Given the description of an element on the screen output the (x, y) to click on. 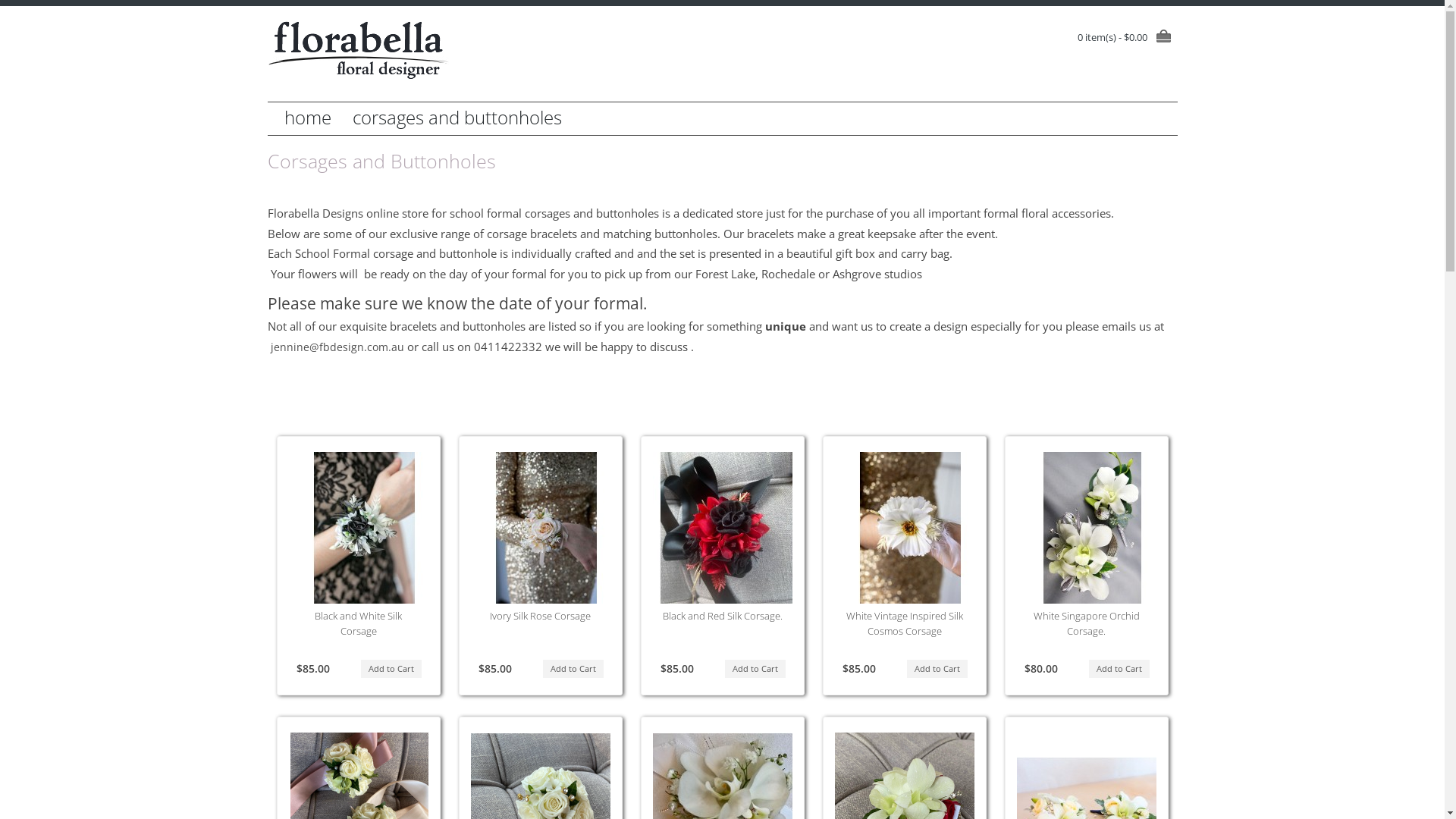
White Singapore Orchid Corsage. Element type: text (1085, 622)
White Vintage Inspired Silk Cosmos Corsage Element type: text (904, 622)
0 item(s) - $0.00 Element type: text (1126, 37)
 Ivory Silk Rose Corsage   Element type: hover (545, 527)
Add to Cart Element type: text (936, 668)
Black and White Silk Corsage Element type: text (357, 622)
Add to Cart Element type: text (390, 668)
Black and Red Silk Corsage. Element type: text (722, 615)
Add to Cart Element type: text (754, 668)
Add to Cart Element type: text (1118, 668)
Ivory Silk Rose Corsage Element type: text (539, 615)
 jennine@fbdesign.com.au Element type: text (334, 346)
White Vintage Inspired Silk Cosmos Corsage  Element type: hover (909, 527)
home Element type: text (307, 117)
 Black and White Silk Corsage  Element type: hover (363, 527)
corsages and buttonholes Element type: text (456, 117)
Florabella Design Element type: hover (357, 49)
Add to Cart Element type: text (572, 668)
 Black and Red Silk Corsage.   Element type: hover (727, 527)
  White Singapore Orchid Corsage.  Element type: hover (1091, 527)
